Given the description of an element on the screen output the (x, y) to click on. 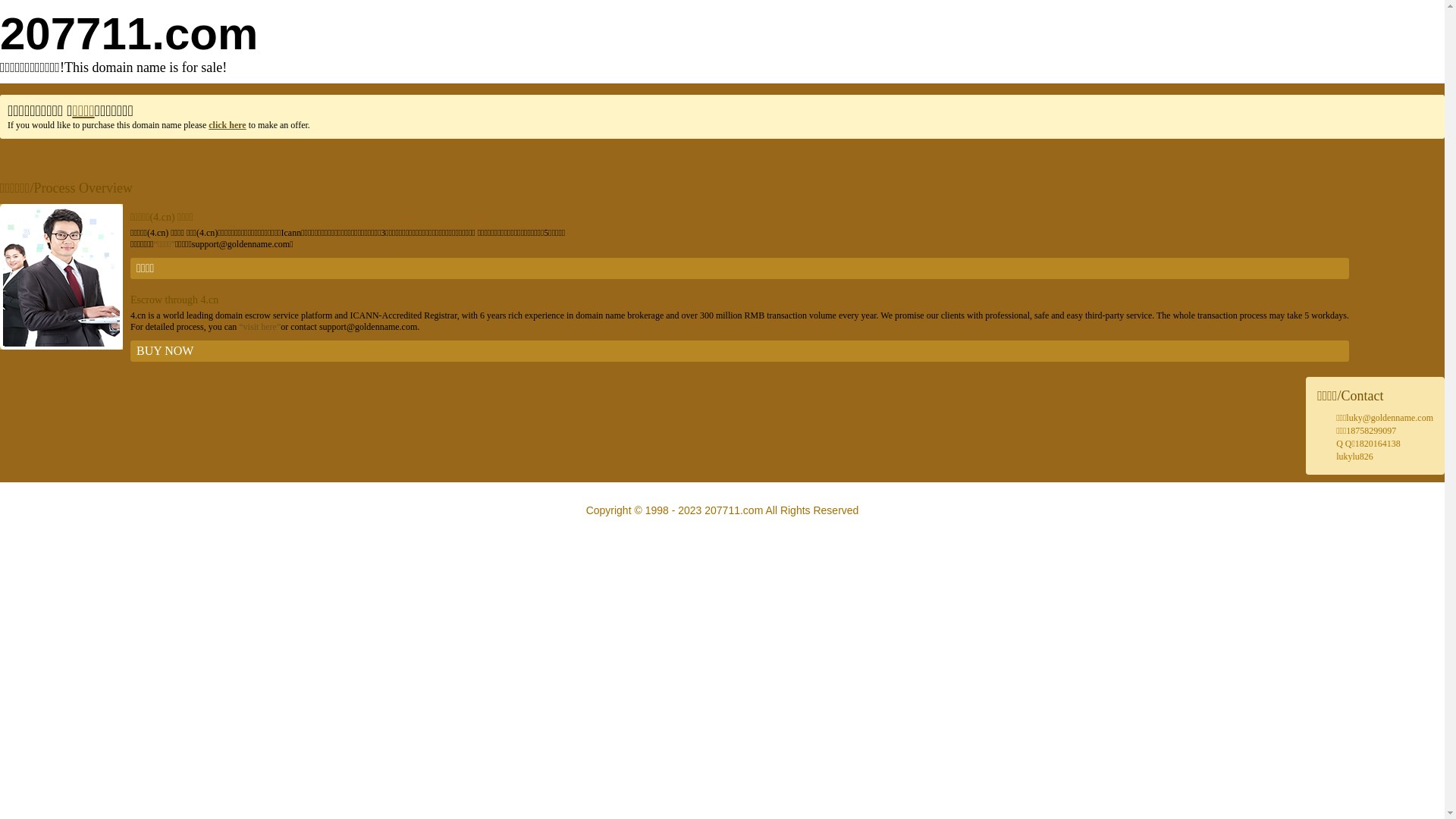
BUY NOW Element type: text (739, 350)
click here Element type: text (226, 124)
